Given the description of an element on the screen output the (x, y) to click on. 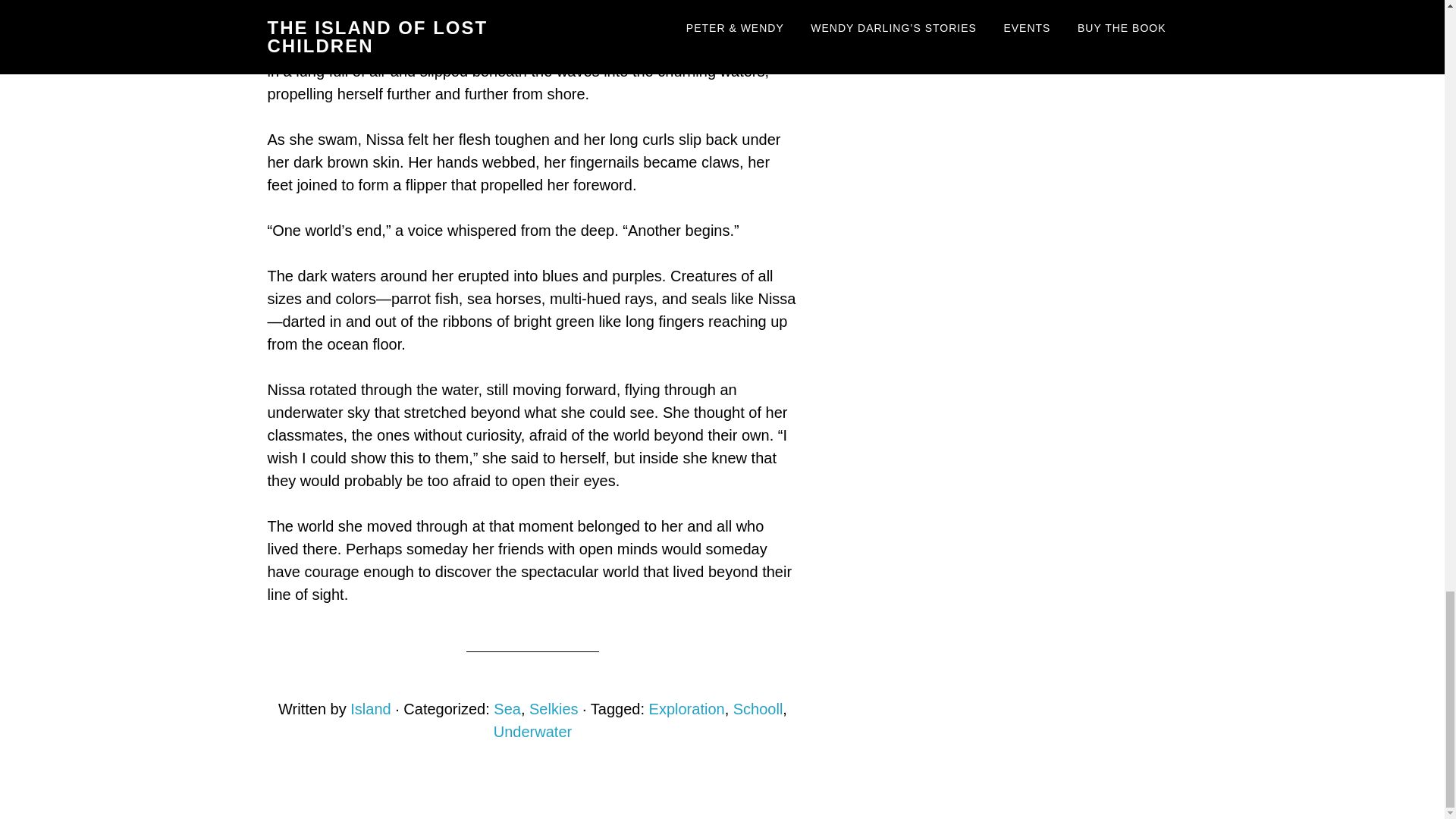
Schooll (758, 709)
Underwater (532, 731)
Exploration (687, 709)
Selkies (553, 709)
Island (370, 709)
Sea (507, 709)
